Given the description of an element on the screen output the (x, y) to click on. 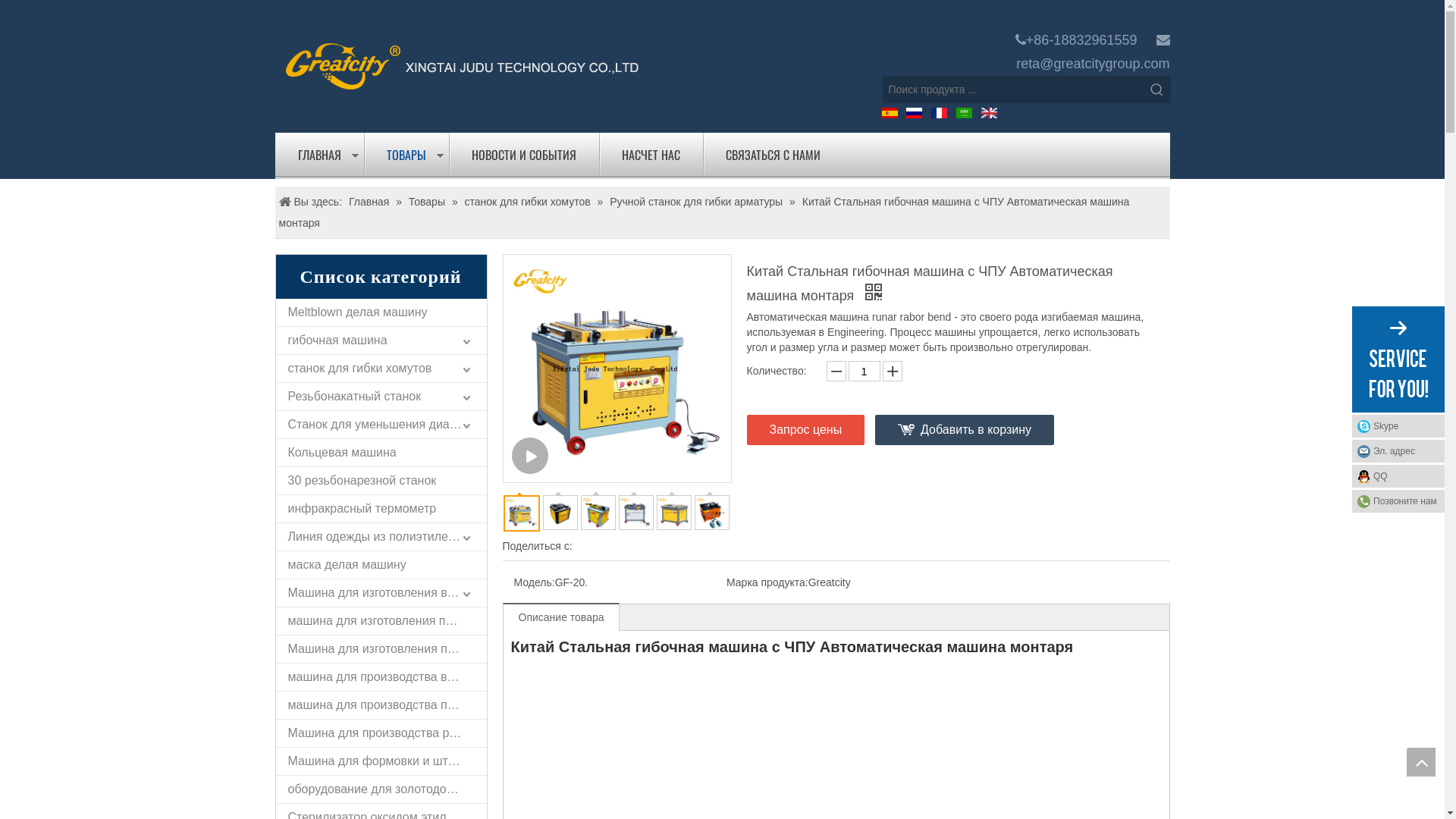
QQ Element type: text (1398, 475)
logo Element type: hover (461, 64)
Skype Element type: text (1398, 425)
top Element type: text (1420, 761)
